Given the description of an element on the screen output the (x, y) to click on. 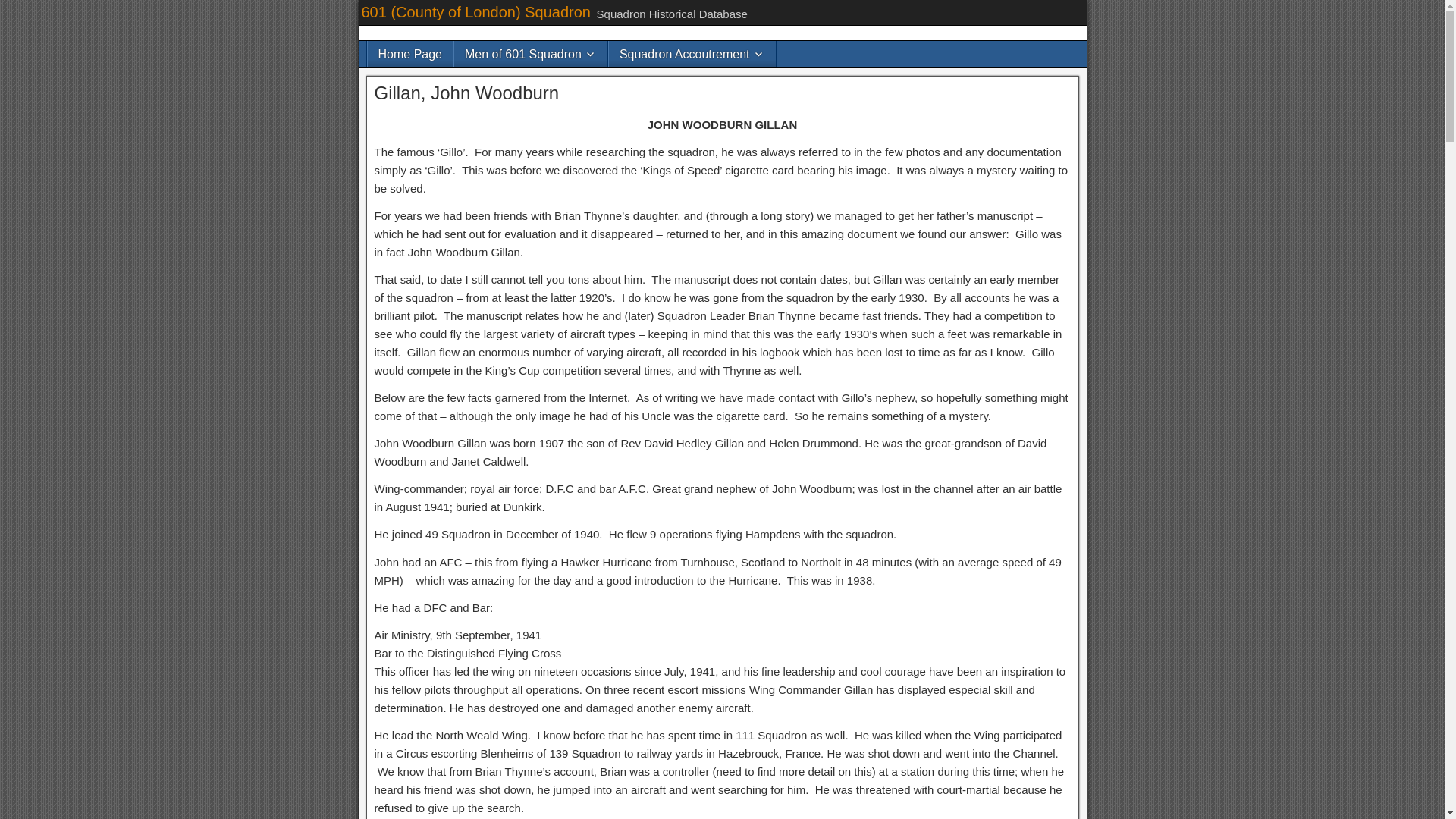
Home Page (409, 53)
Men of 601 Squadron (530, 53)
